Given the description of an element on the screen output the (x, y) to click on. 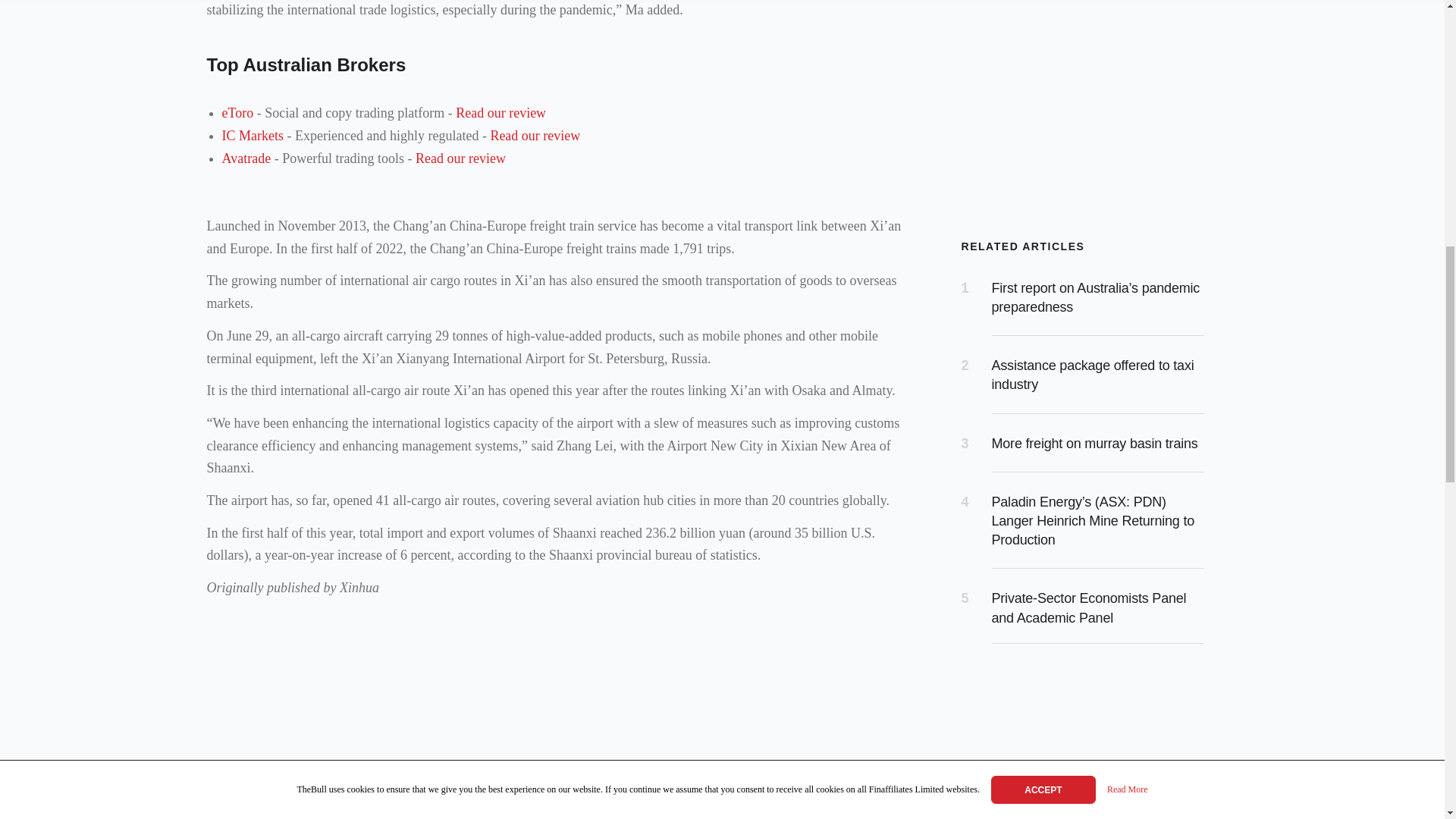
IC Markets (251, 135)
Read our review (459, 158)
Assistance package offered to taxi industry (1092, 374)
Read our review (500, 112)
Assistance package offered to taxi industry (1092, 374)
Private-Sector Economists Panel and Academic Panel (1088, 607)
Avatrade (245, 158)
Private-Sector Economists Panel and Academic Panel (1088, 607)
More freight on murray basin trains (1094, 443)
Read our review (534, 135)
eToro (237, 112)
More freight on murray basin trains (1094, 443)
